Given the description of an element on the screen output the (x, y) to click on. 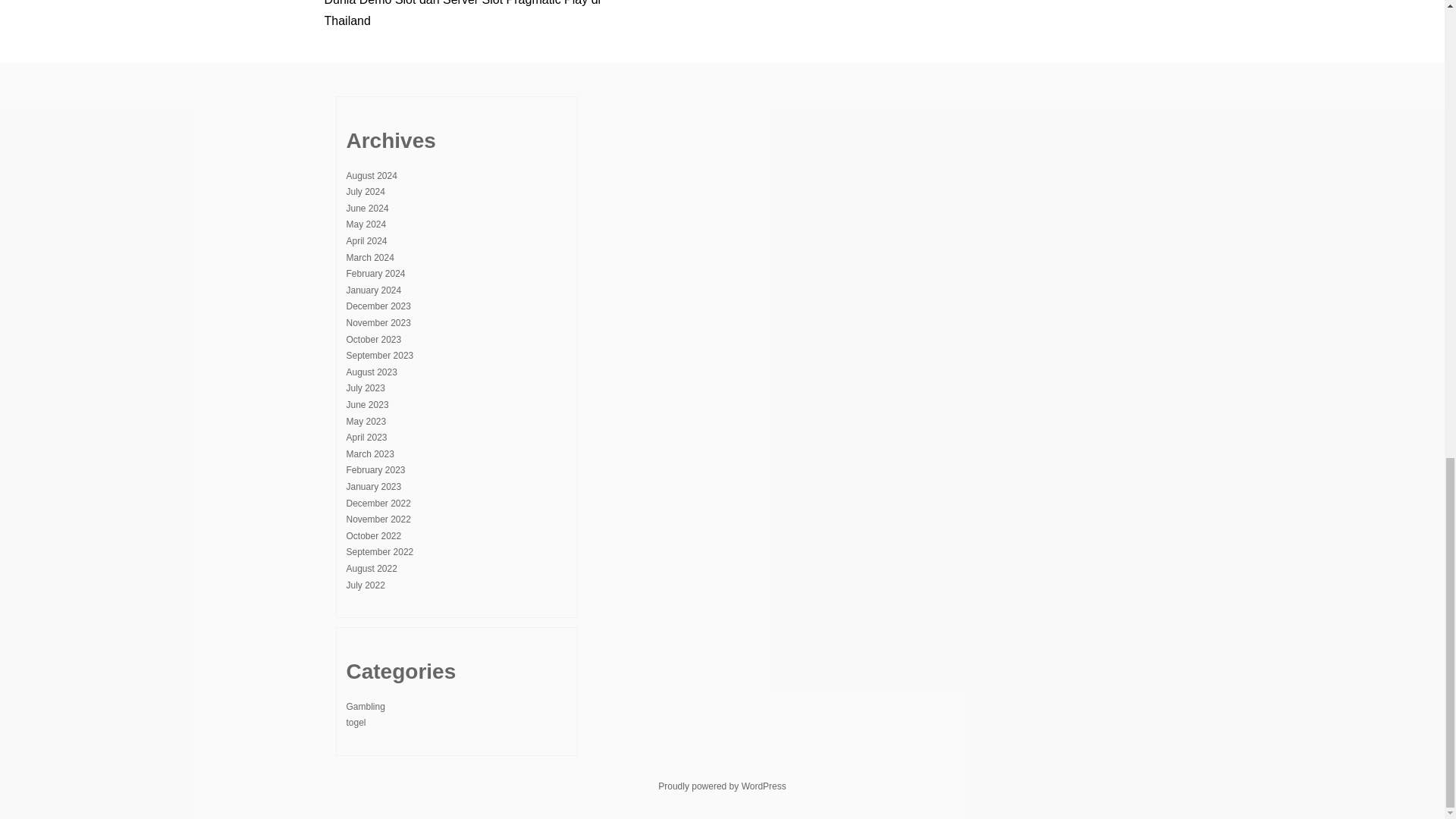
March 2024 (369, 257)
December 2023 (378, 306)
December 2022 (378, 502)
August 2024 (371, 175)
February 2024 (375, 273)
May 2023 (365, 421)
November 2023 (378, 322)
February 2023 (375, 470)
April 2024 (366, 240)
May 2024 (365, 224)
